Given the description of an element on the screen output the (x, y) to click on. 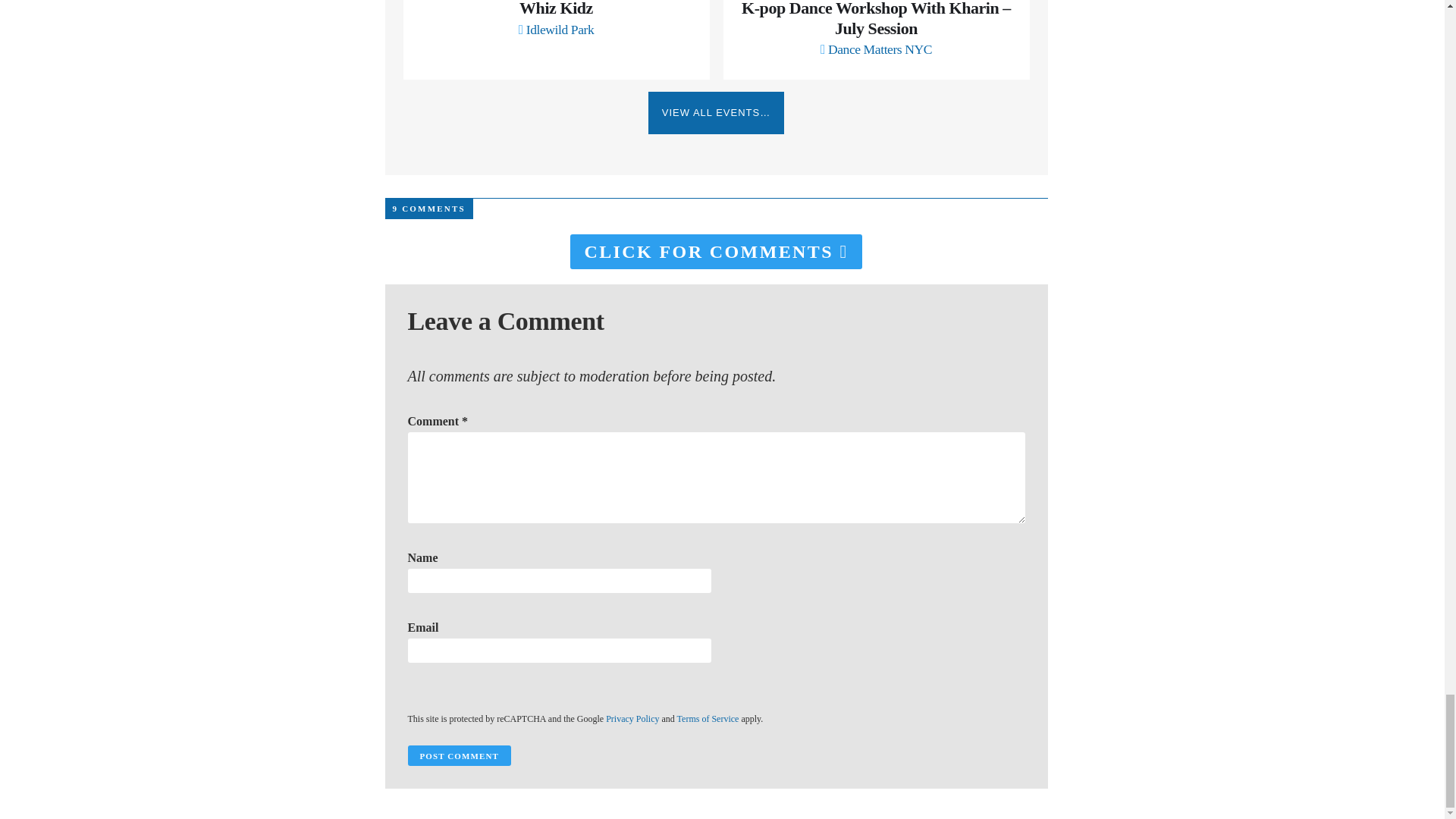
Post Comment (459, 755)
